Given the description of an element on the screen output the (x, y) to click on. 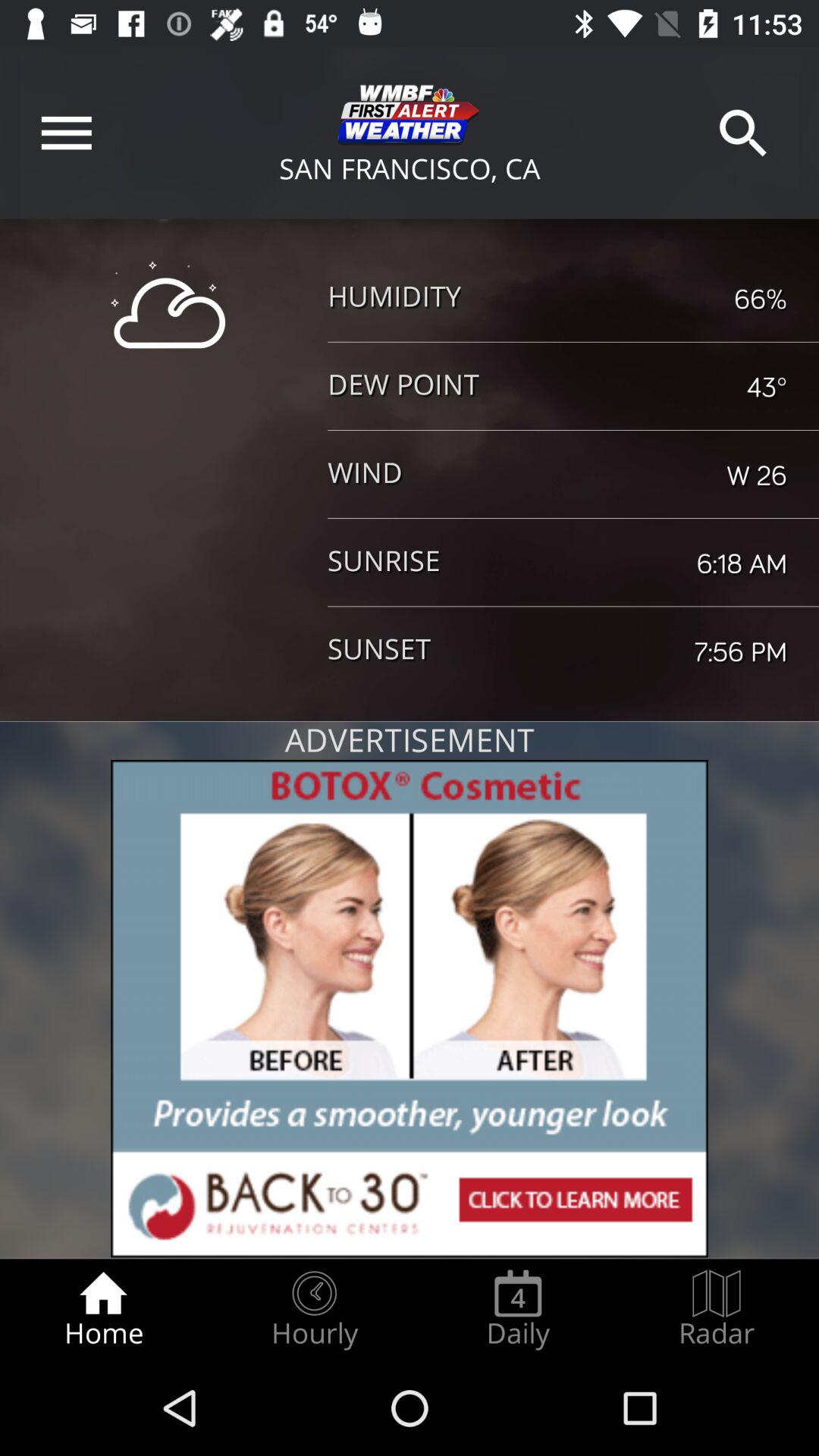
tap item next to the home radio button (314, 1309)
